Given the description of an element on the screen output the (x, y) to click on. 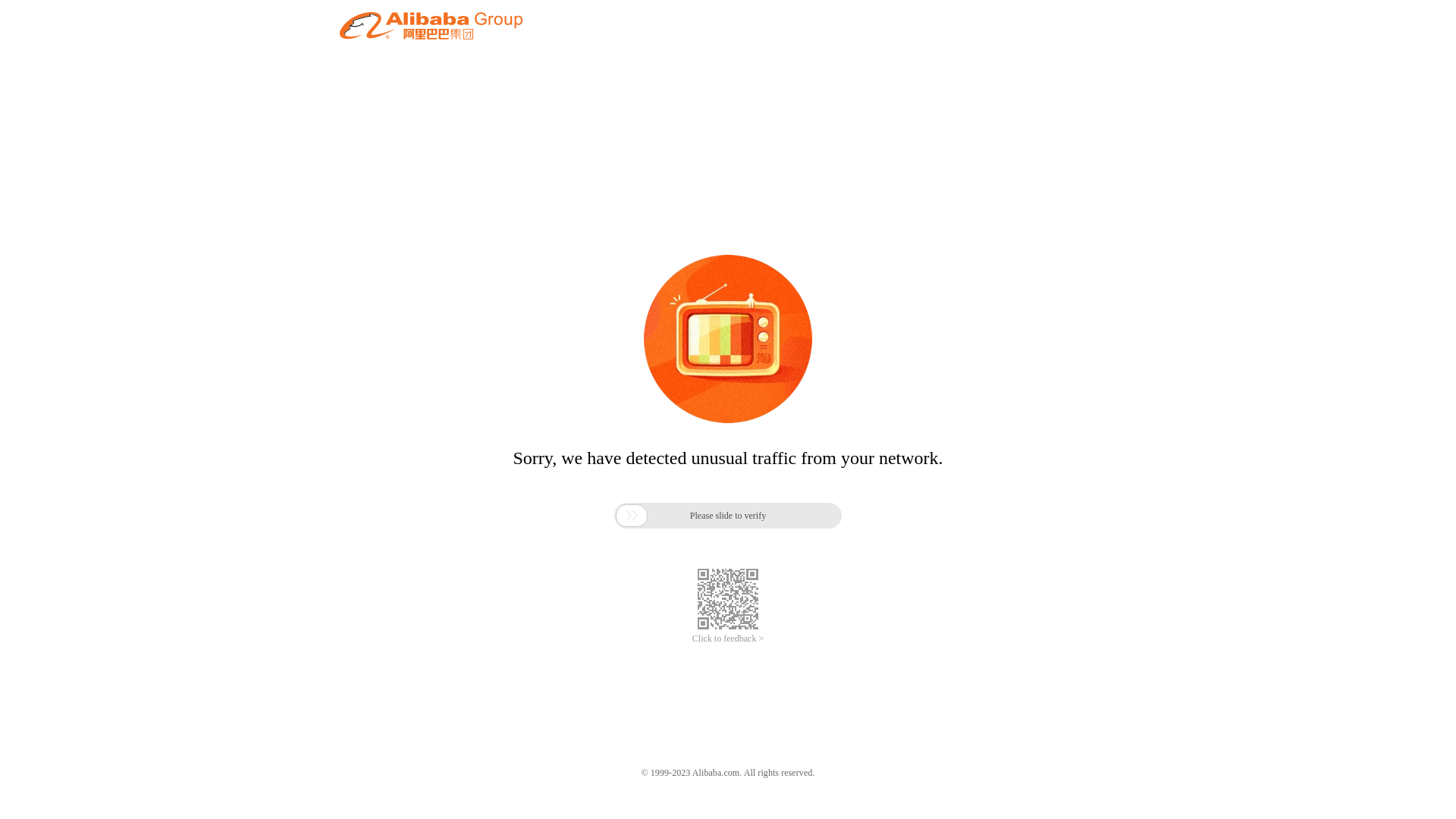
Click to feedback > Element type: text (727, 638)
